Given the description of an element on the screen output the (x, y) to click on. 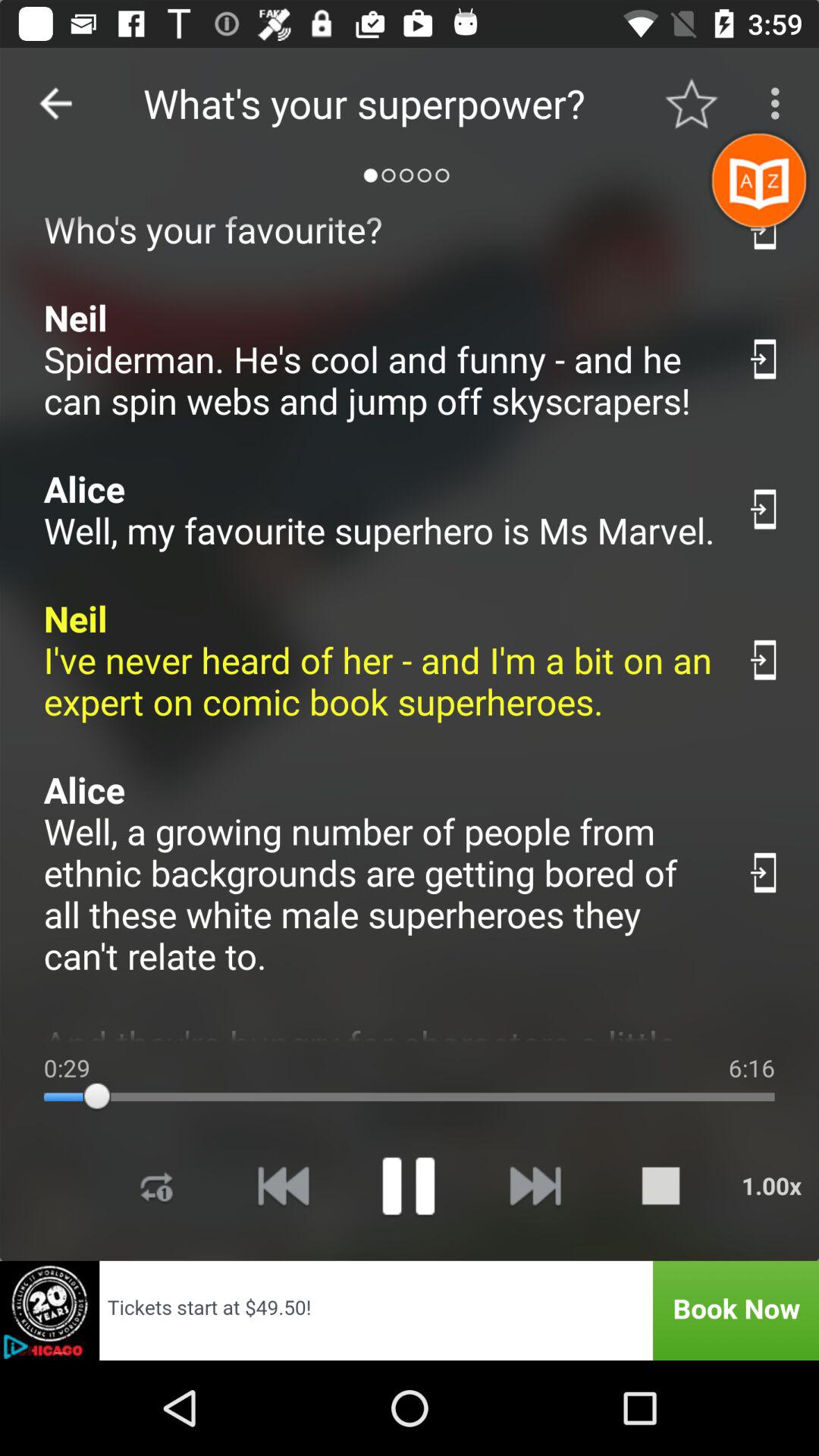
stop (660, 1185)
